Given the description of an element on the screen output the (x, y) to click on. 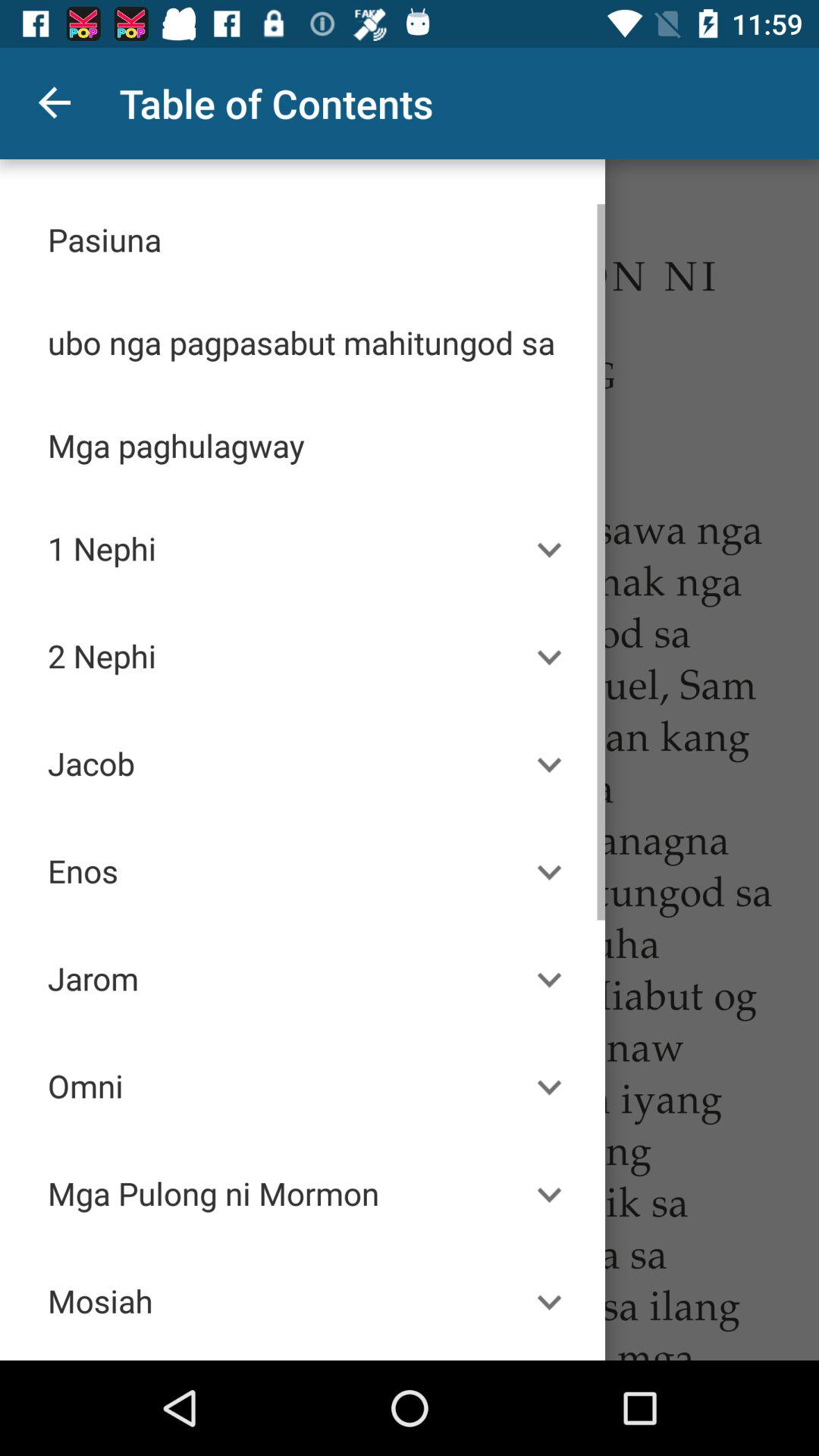
choose the item to the left of table of contents icon (55, 103)
